Given the description of an element on the screen output the (x, y) to click on. 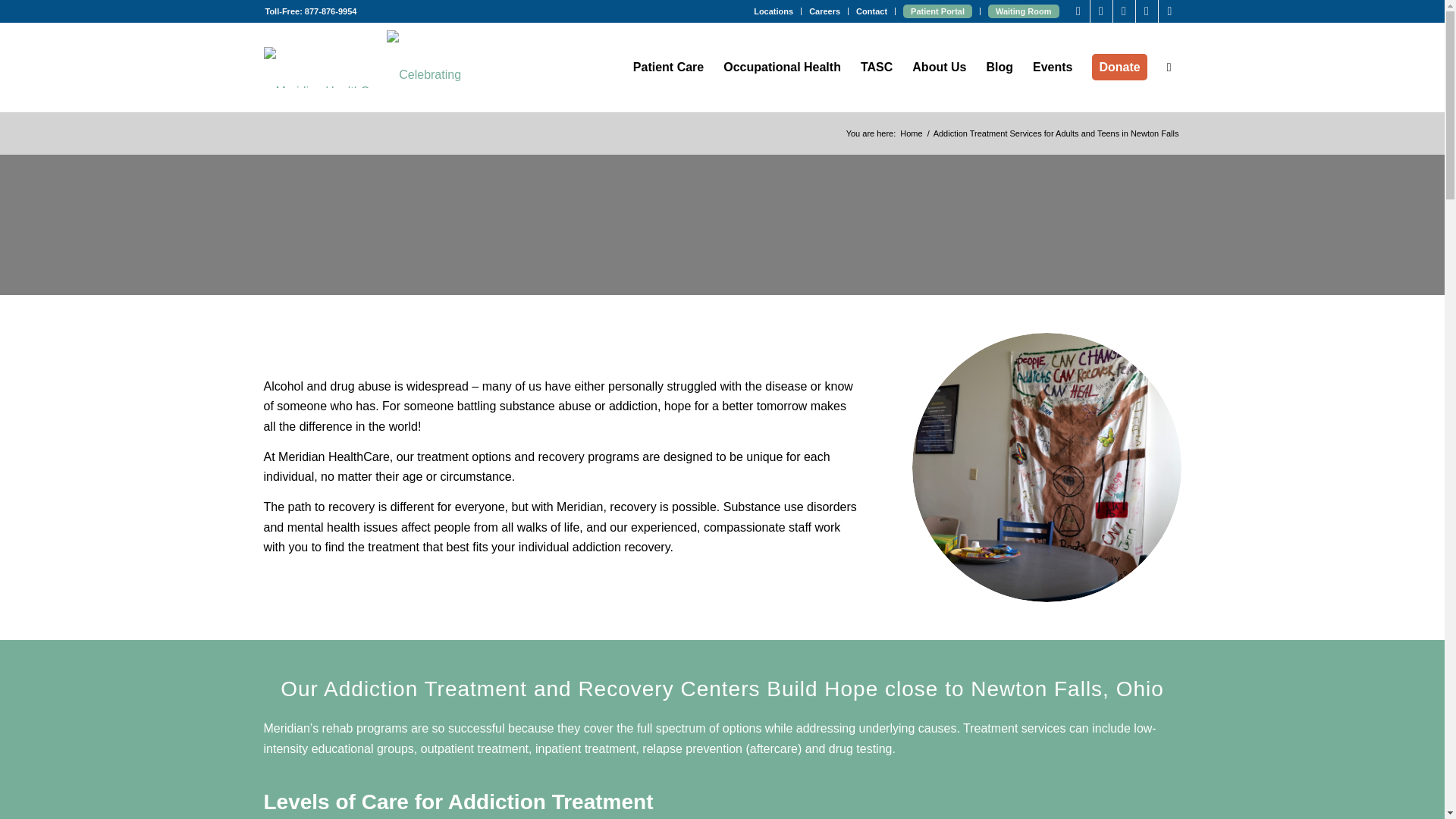
Waiting Room (1023, 11)
LinkedIn (1169, 11)
Meridian HealthCare Addiction Interior. (1046, 466)
Home (911, 133)
meridian-logo (325, 74)
Patient Care (668, 67)
877-876-9954 (330, 10)
Occupational Health (781, 67)
Youtube (1124, 11)
Patient Portal (937, 11)
meridian-logo (325, 67)
Twitter (1101, 11)
Contact (871, 11)
Instagram (1146, 11)
Meridian HealthCare (911, 133)
